Given the description of an element on the screen output the (x, y) to click on. 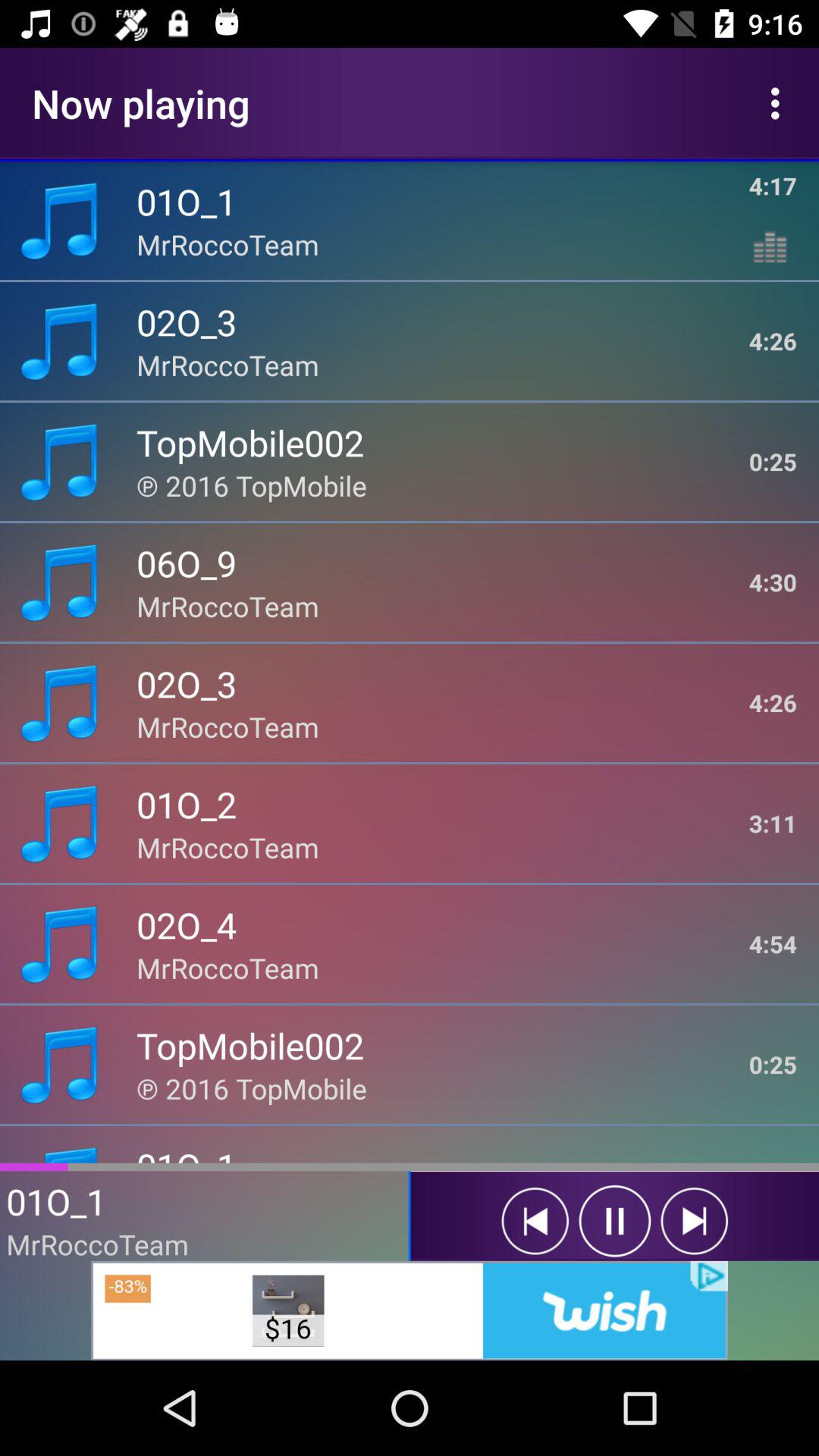
sound button (535, 1220)
